Given the description of an element on the screen output the (x, y) to click on. 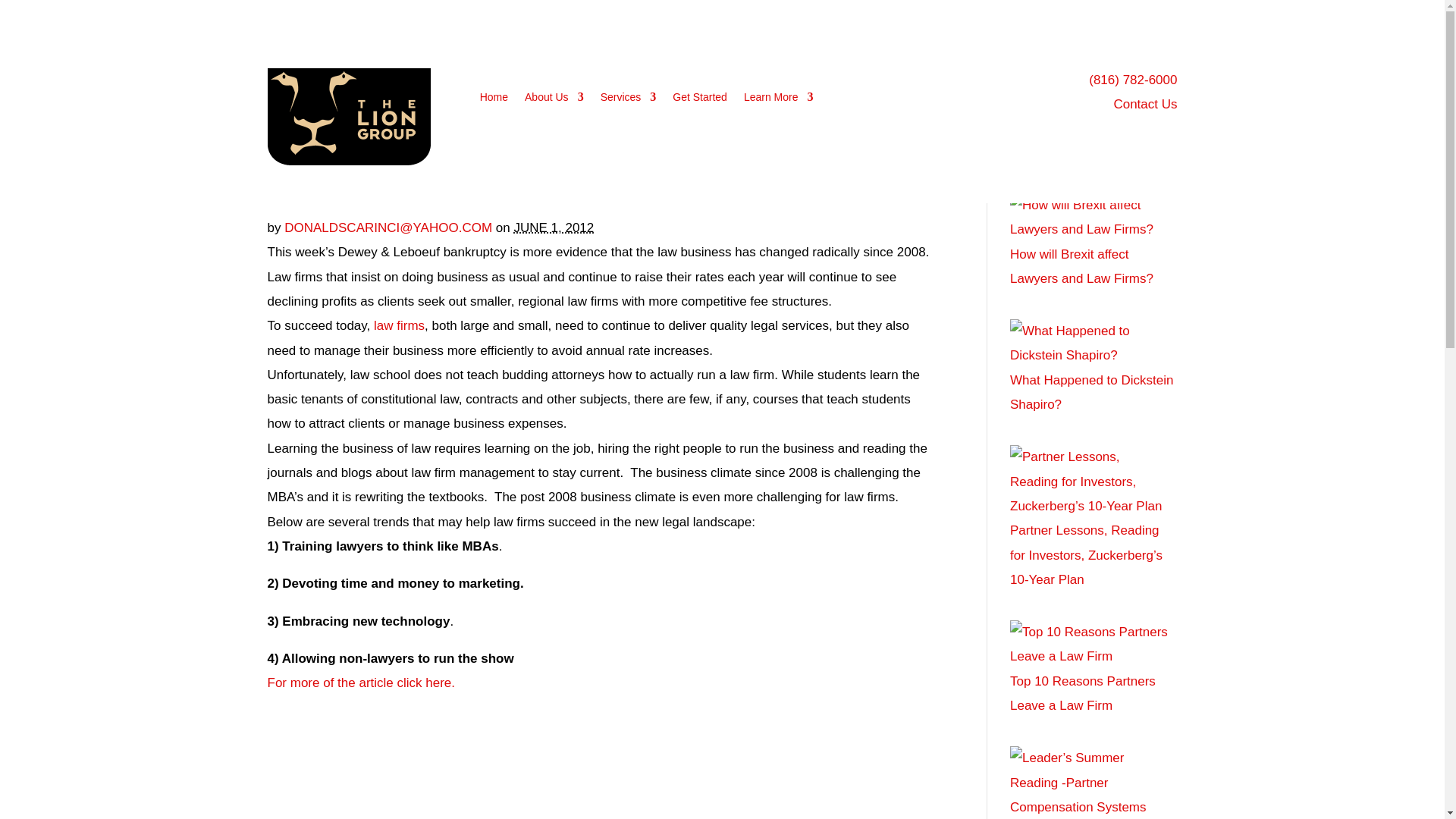
Get Started (699, 96)
2012-06-01 (553, 227)
Law Firm Management (457, 157)
Posts by Chris Batz (305, 157)
How will Brexit affect Lawyers and Law Firms? (1081, 266)
Search (1151, 119)
Chris Batz (305, 157)
Follow on LinkedIn (951, 79)
What Happened to Dickstein Shapiro? (1091, 392)
law firms (399, 325)
